Given the description of an element on the screen output the (x, y) to click on. 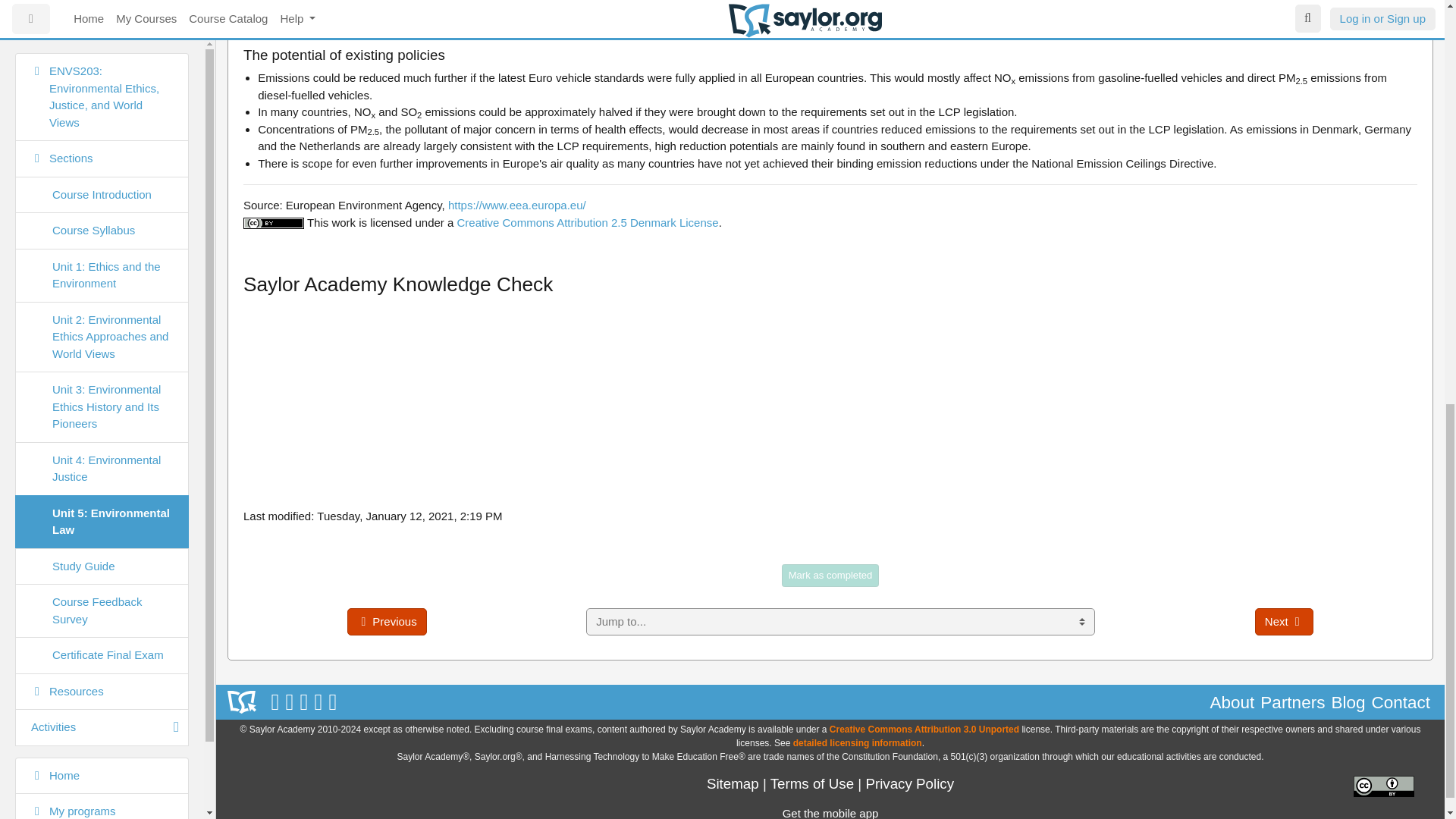
My certificates (101, 28)
My programs (101, 5)
Saylor Academy (241, 702)
